Given the description of an element on the screen output the (x, y) to click on. 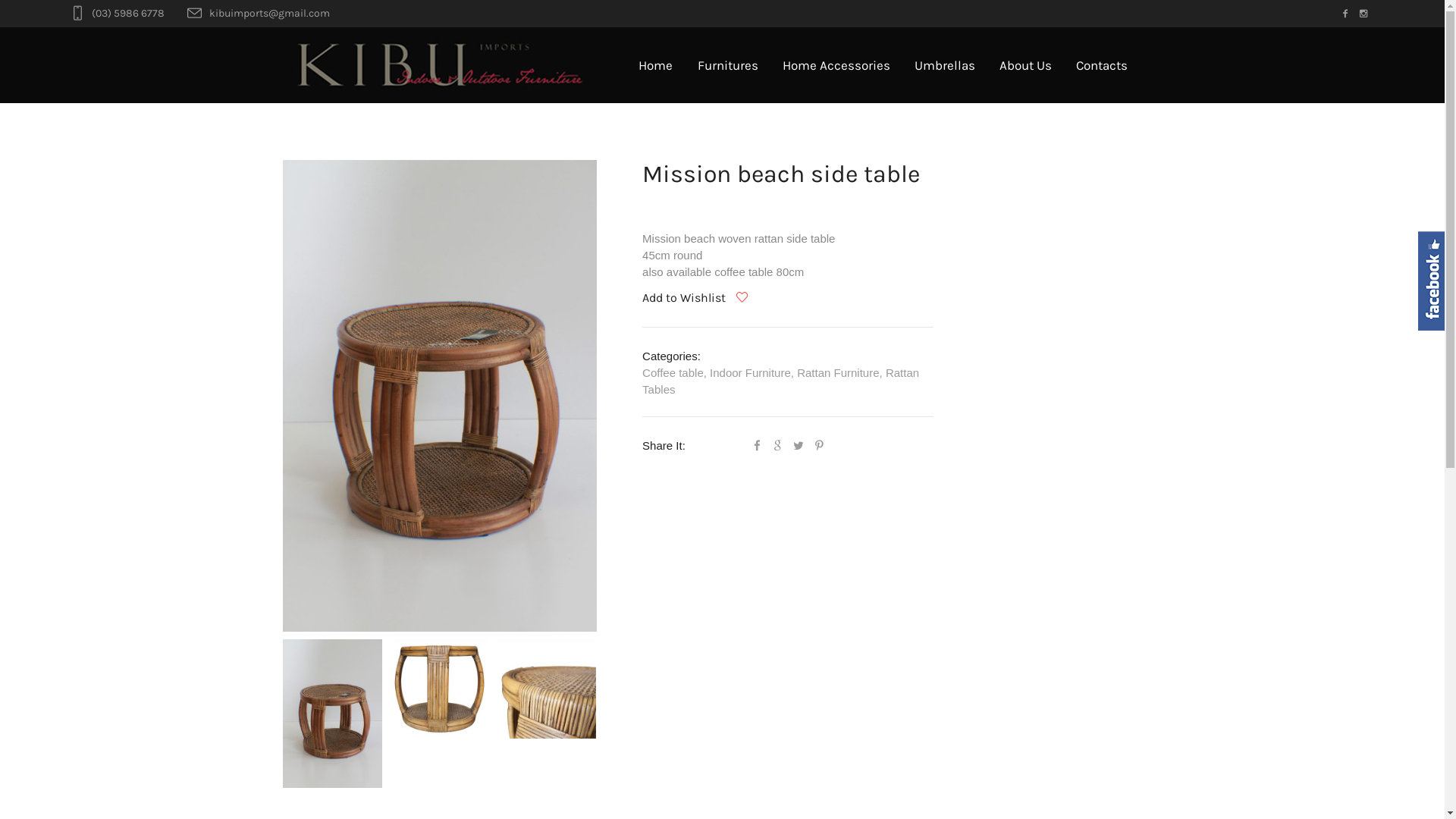
About Us Element type: text (1025, 65)
Furnitures Element type: text (727, 65)
Contacts Element type: text (1101, 65)
mission beach) Element type: hover (545, 688)
Add to Wishlist Element type: text (694, 297)
Indoor Furniture Element type: text (749, 372)
Coffee table Element type: text (672, 372)
EJ0007 (2) Element type: hover (439, 688)
Rattan Furniture Element type: text (837, 372)
kibuimports@gmail.com Element type: text (269, 12)
Rattan Tables Element type: text (780, 380)
Home Element type: text (655, 65)
IMG_3739 Element type: hover (439, 395)
Facebook Element type: hover (1344, 13)
Umbrellas Element type: text (944, 65)
Home Accessories Element type: text (836, 65)
IMG_3739 Element type: hover (331, 713)
Instagram Element type: hover (1363, 13)
